Given the description of an element on the screen output the (x, y) to click on. 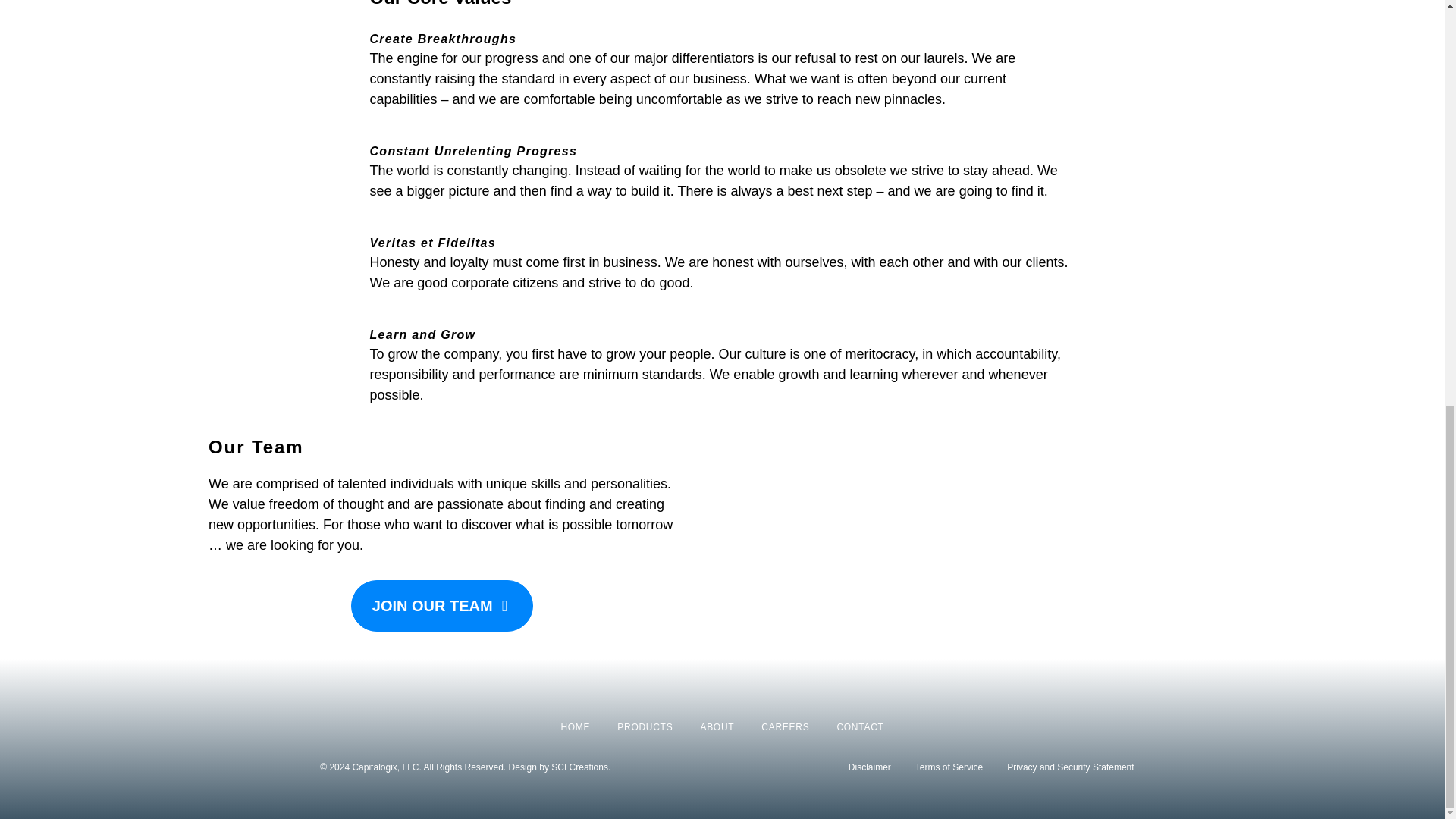
PRODUCTS (644, 727)
Privacy and Security Statement (1070, 767)
Disclaimer (869, 767)
Terms of Service (948, 767)
CONTACT (859, 727)
HOME (574, 727)
JOIN OUR TEAM (441, 605)
CAREERS (785, 727)
ABOUT (716, 727)
